Given the description of an element on the screen output the (x, y) to click on. 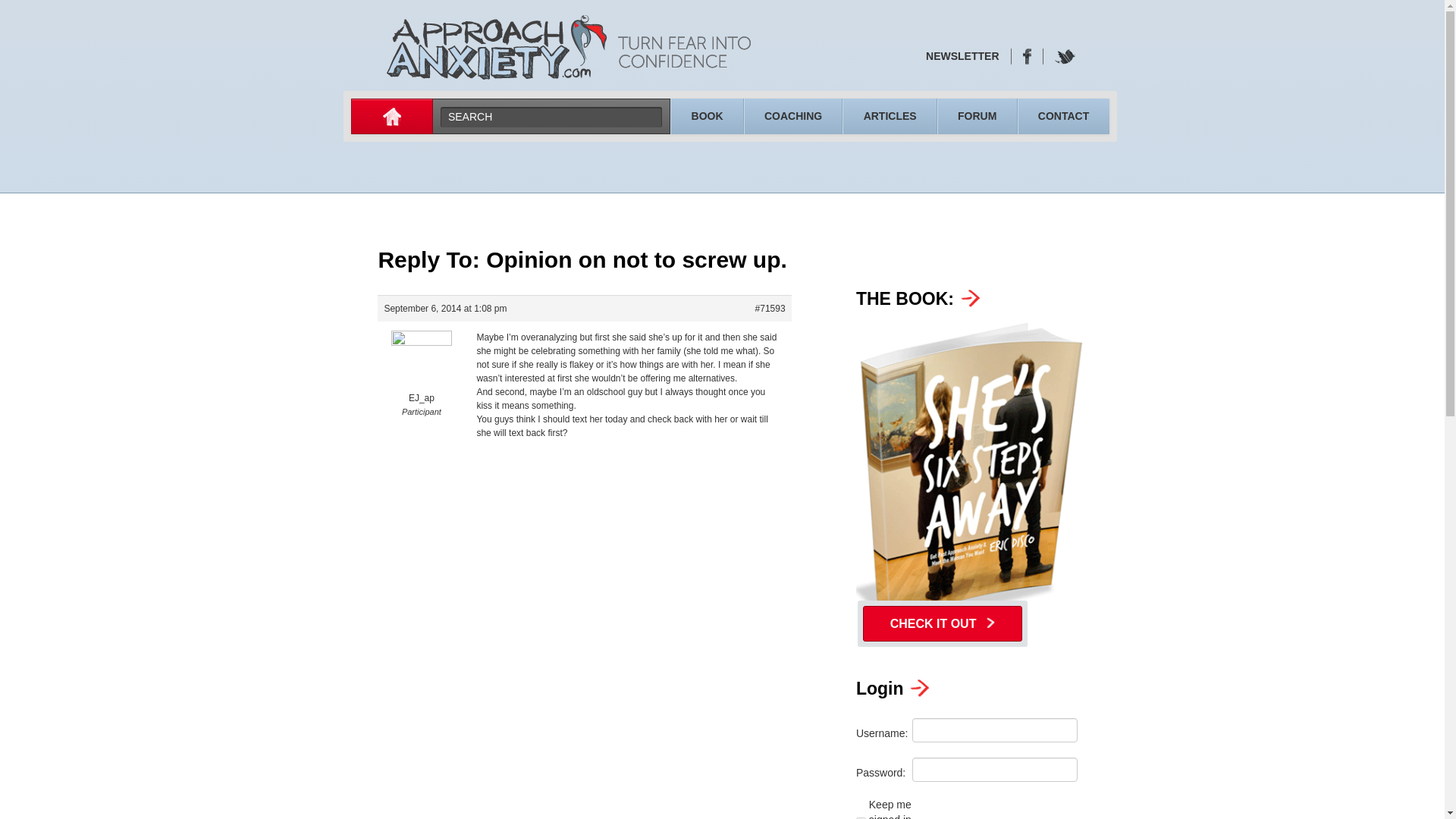
NEWSLETTER (962, 55)
FORUM (976, 115)
CHECK IT OUT (942, 623)
CONTACT (1063, 115)
ARTICLES (889, 115)
COACHING (793, 115)
BOOK (706, 115)
